Given the description of an element on the screen output the (x, y) to click on. 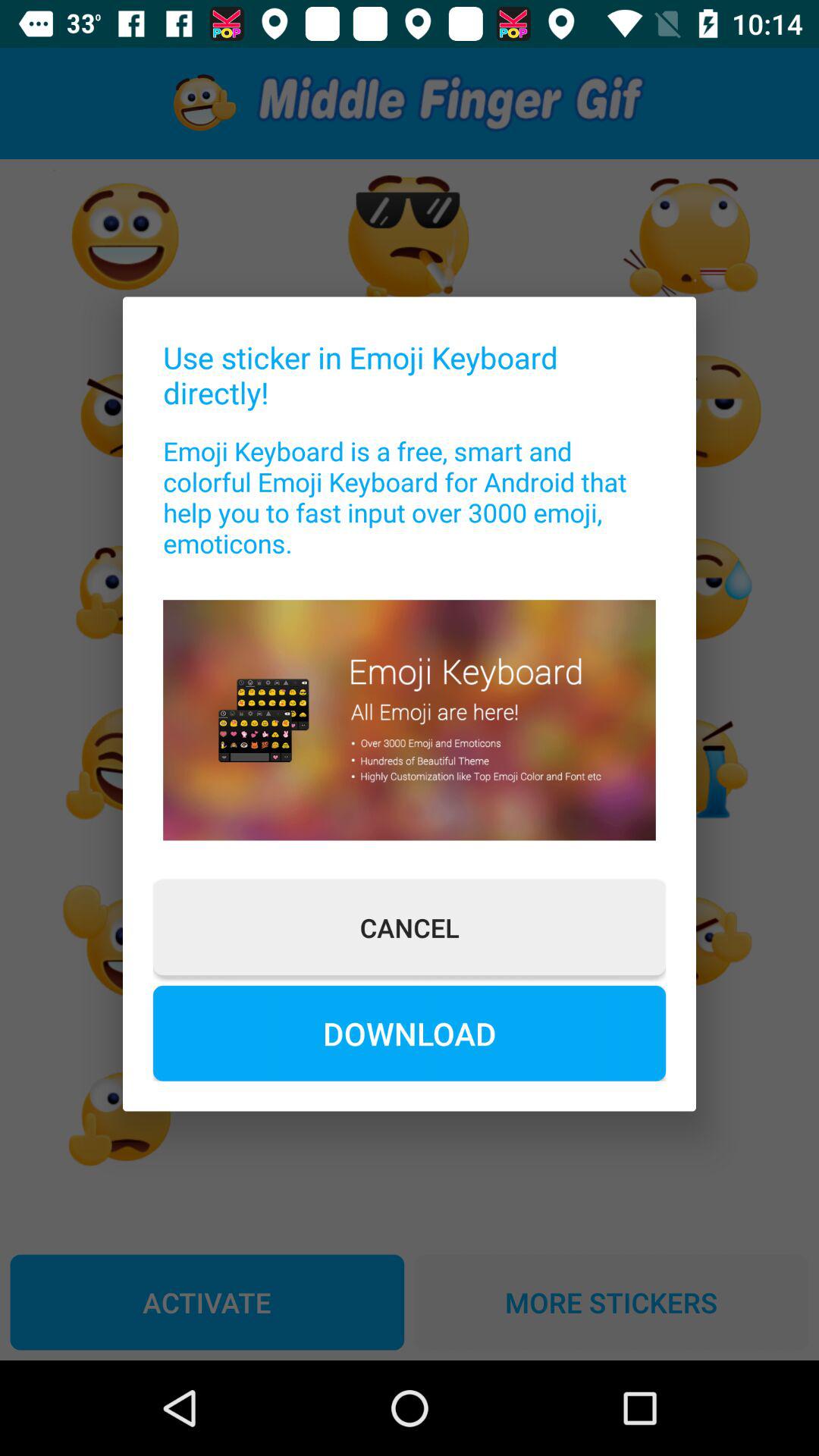
open the item below cancel item (409, 1033)
